Given the description of an element on the screen output the (x, y) to click on. 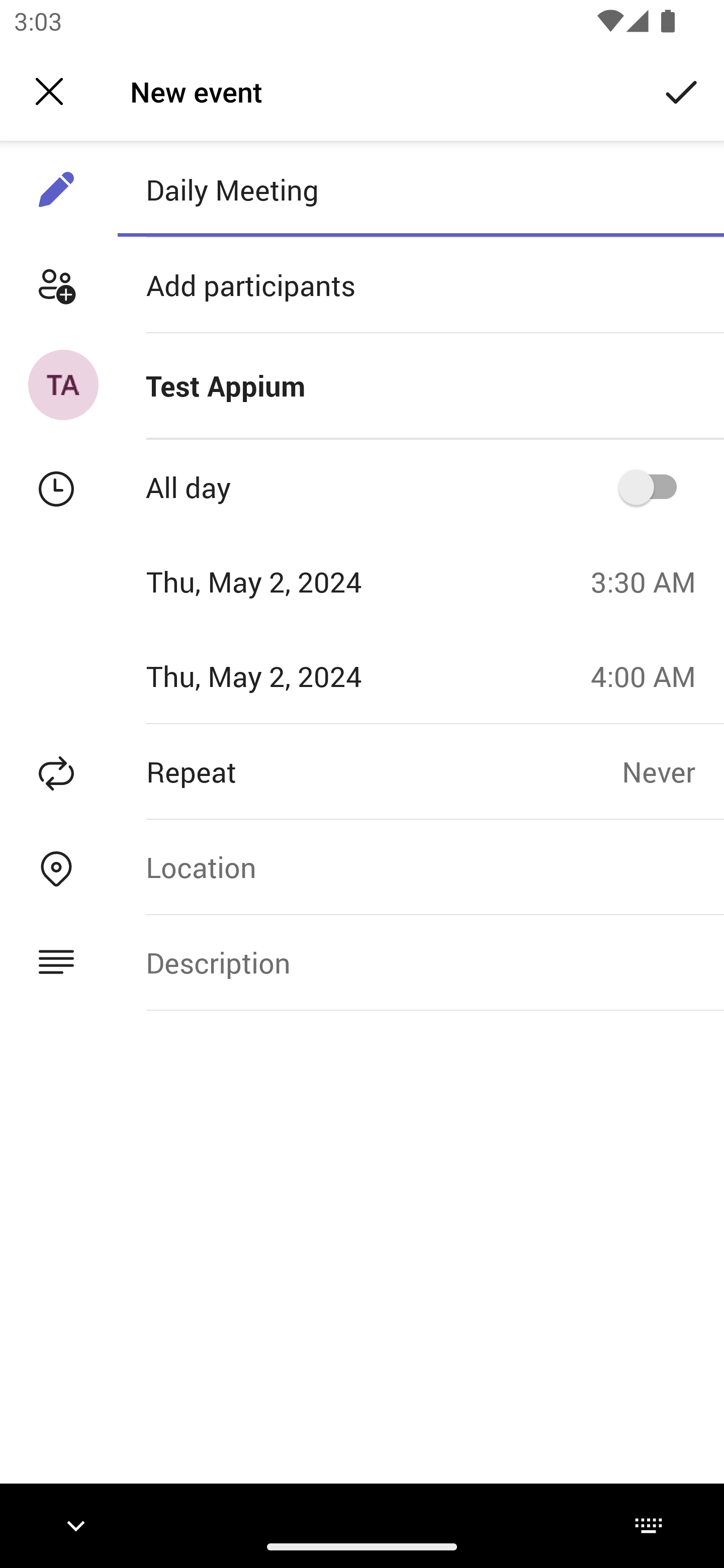
Back (49, 91)
Send invite (681, 90)
Daily Meeting (420, 189)
Add participants Add participants option (362, 285)
All day (654, 486)
Thu, May 2, 2024 Starts Thursday May 02, 2024 (288, 581)
3:30 AM Start time 3:30 AM (650, 581)
Thu, May 2, 2024 Ends Thursday May 02, 2024 (288, 675)
4:00 AM End time 4:00 AM (650, 675)
Repeat (310, 771)
Never Repeat Never (672, 771)
Location (420, 867)
Description (420, 962)
